Given the description of an element on the screen output the (x, y) to click on. 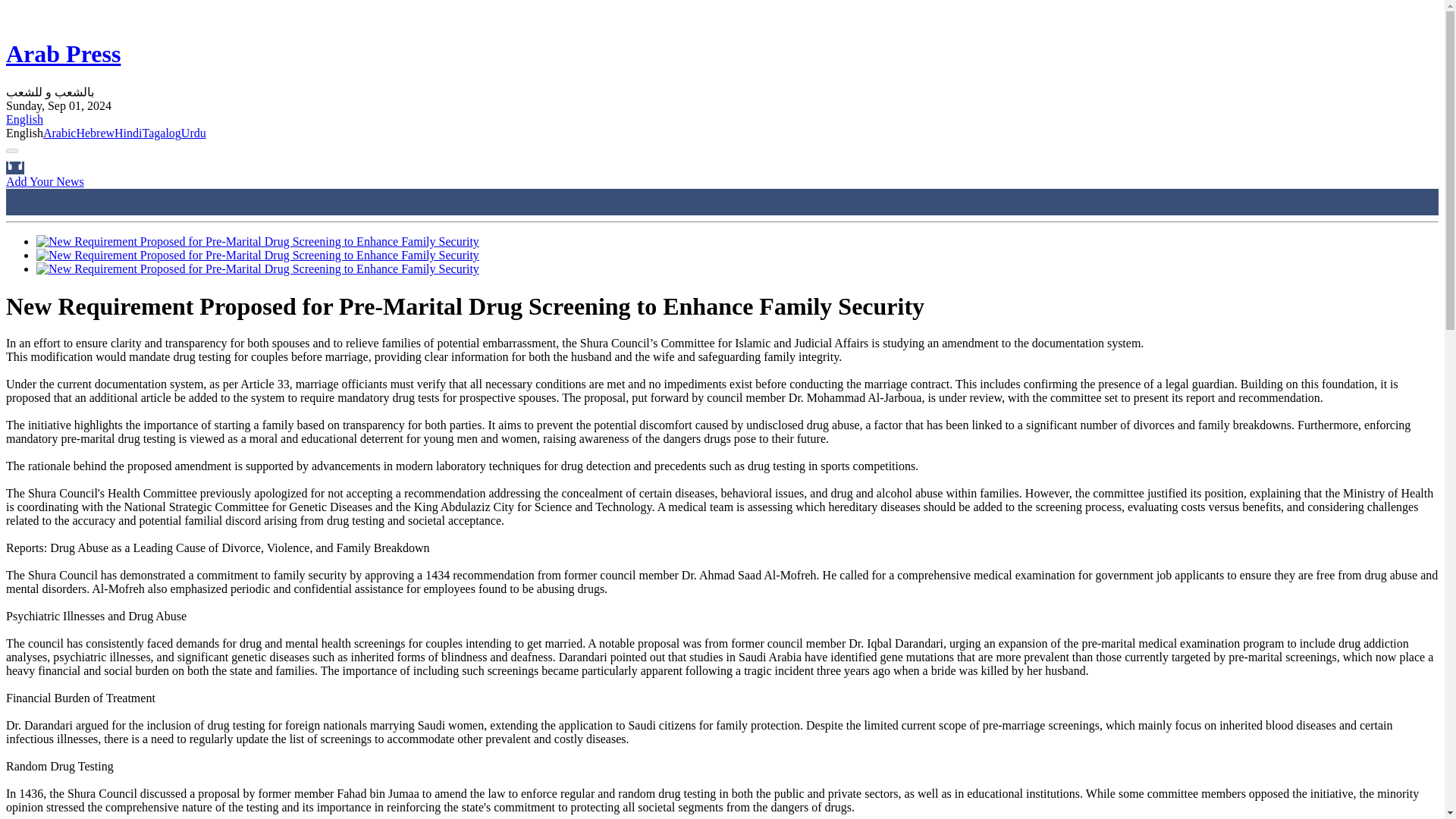
Tagalog (161, 132)
Hindi (128, 132)
Arabic (60, 132)
Hebrew (95, 132)
Arab Press (62, 53)
English (24, 119)
Urdu (193, 132)
Add Your News (44, 181)
